Given the description of an element on the screen output the (x, y) to click on. 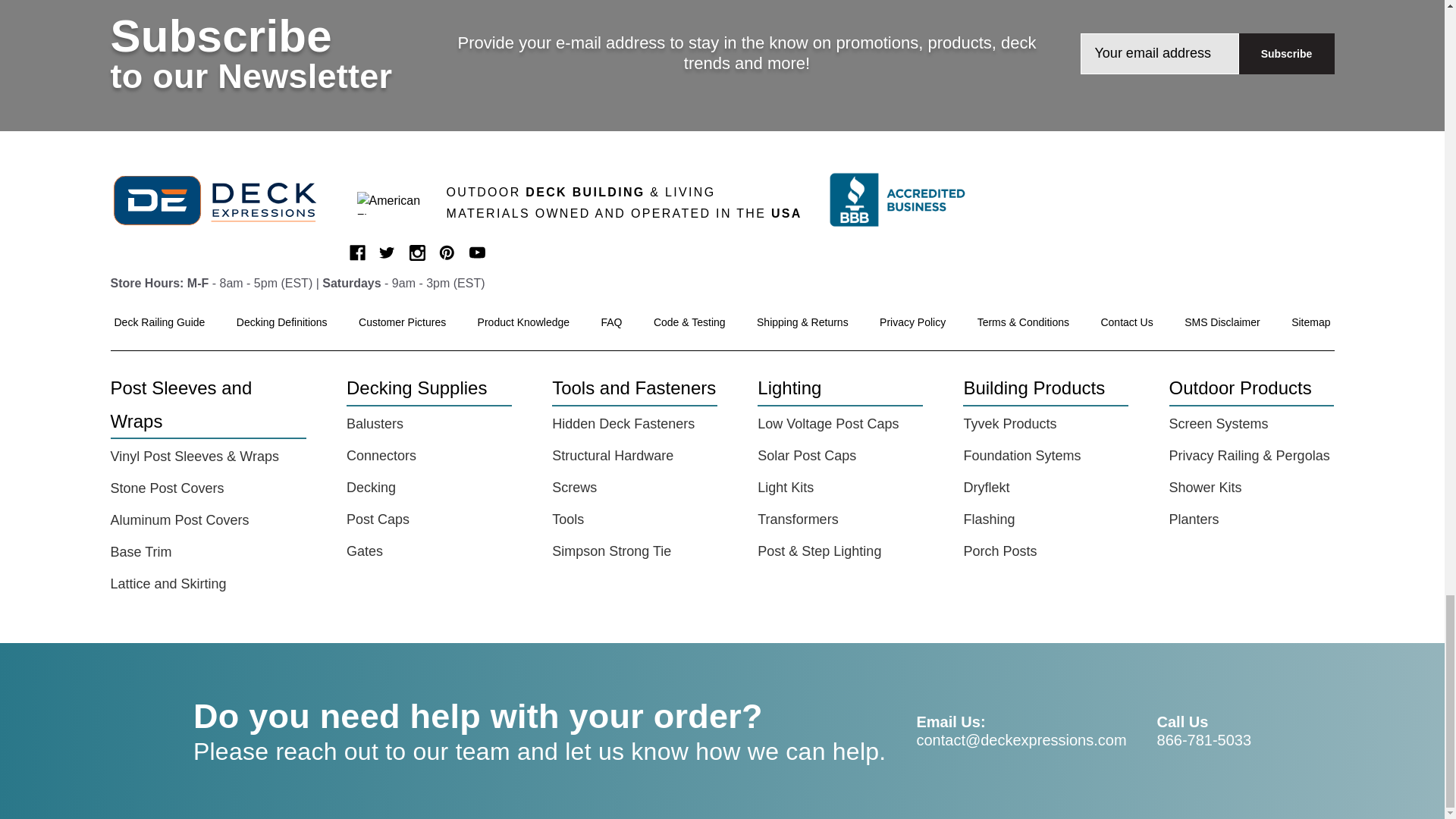
Pinterest (446, 252)
Instagram (417, 252)
Twitter (386, 252)
Deck Expressions (223, 200)
Facebook (357, 252)
Subscribe (1287, 53)
